Given the description of an element on the screen output the (x, y) to click on. 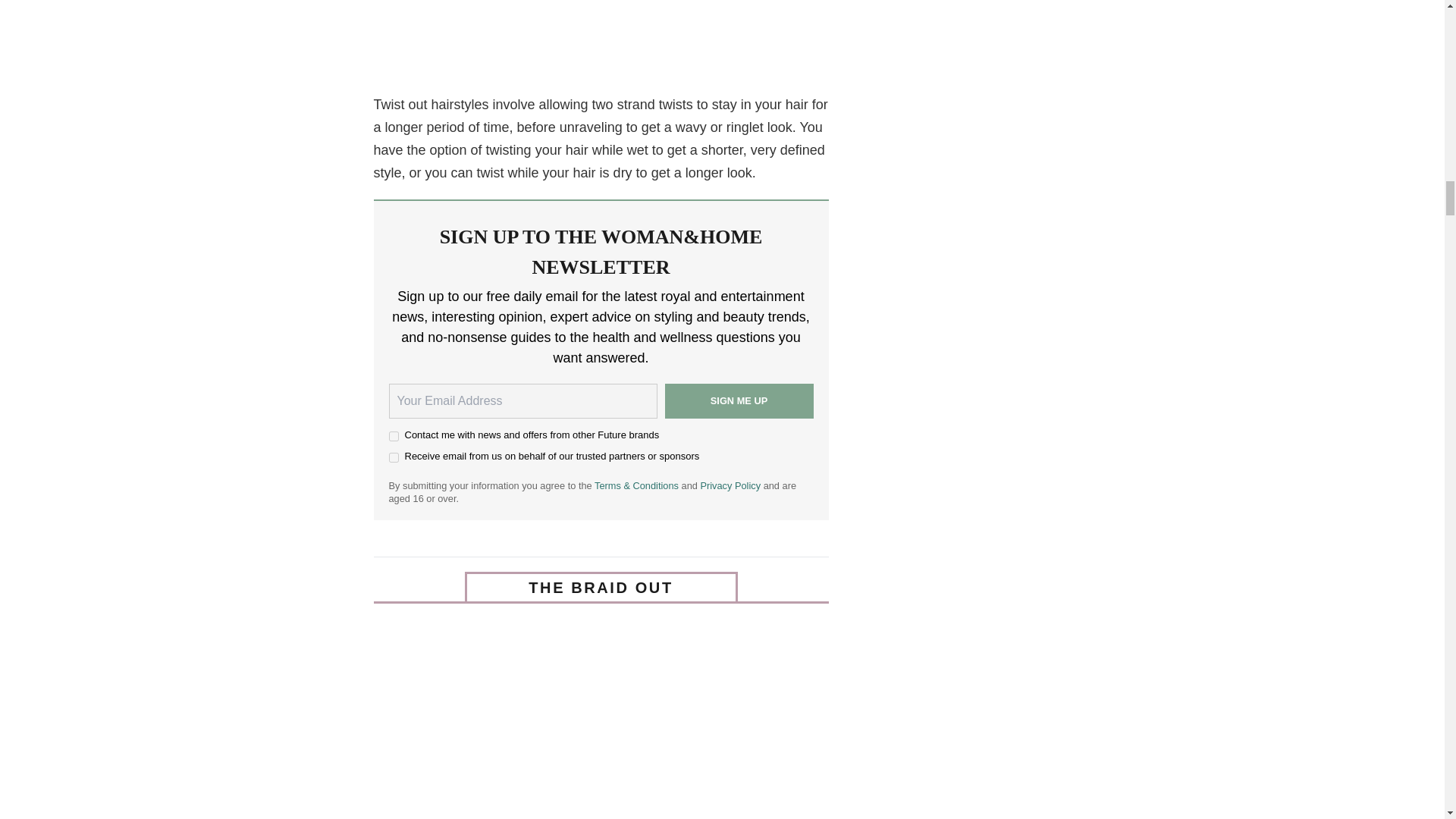
Sign me up (737, 401)
on (392, 436)
on (392, 457)
